Given the description of an element on the screen output the (x, y) to click on. 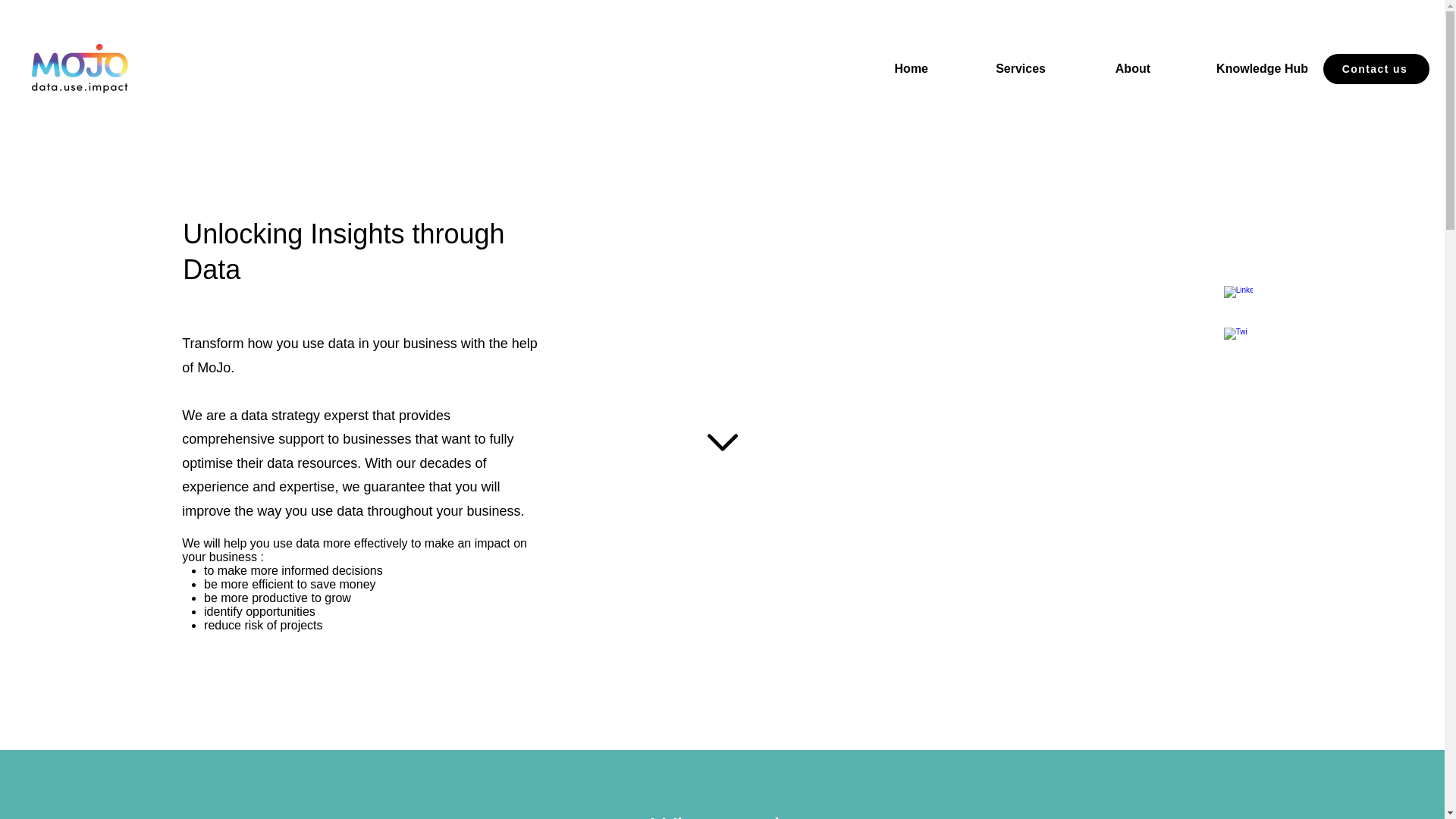
Home (884, 68)
About (1104, 68)
Contact us (1376, 69)
Services (994, 68)
